Given the description of an element on the screen output the (x, y) to click on. 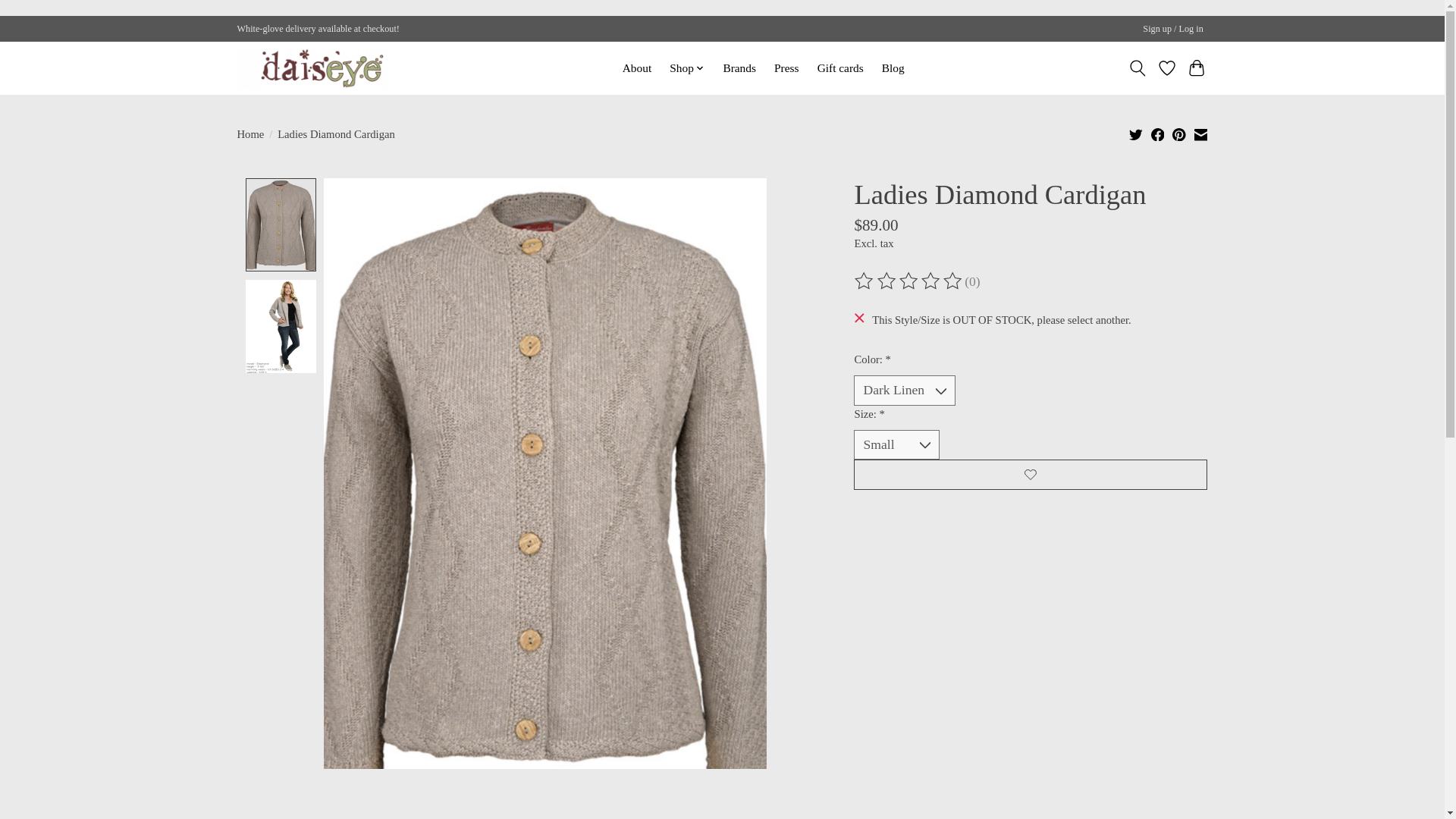
Share on Pinterest (1178, 133)
Share by Email (1200, 133)
Share on Twitter (1135, 133)
Shop (686, 67)
About (637, 67)
Share on Facebook (1157, 133)
My account (1173, 28)
